Given the description of an element on the screen output the (x, y) to click on. 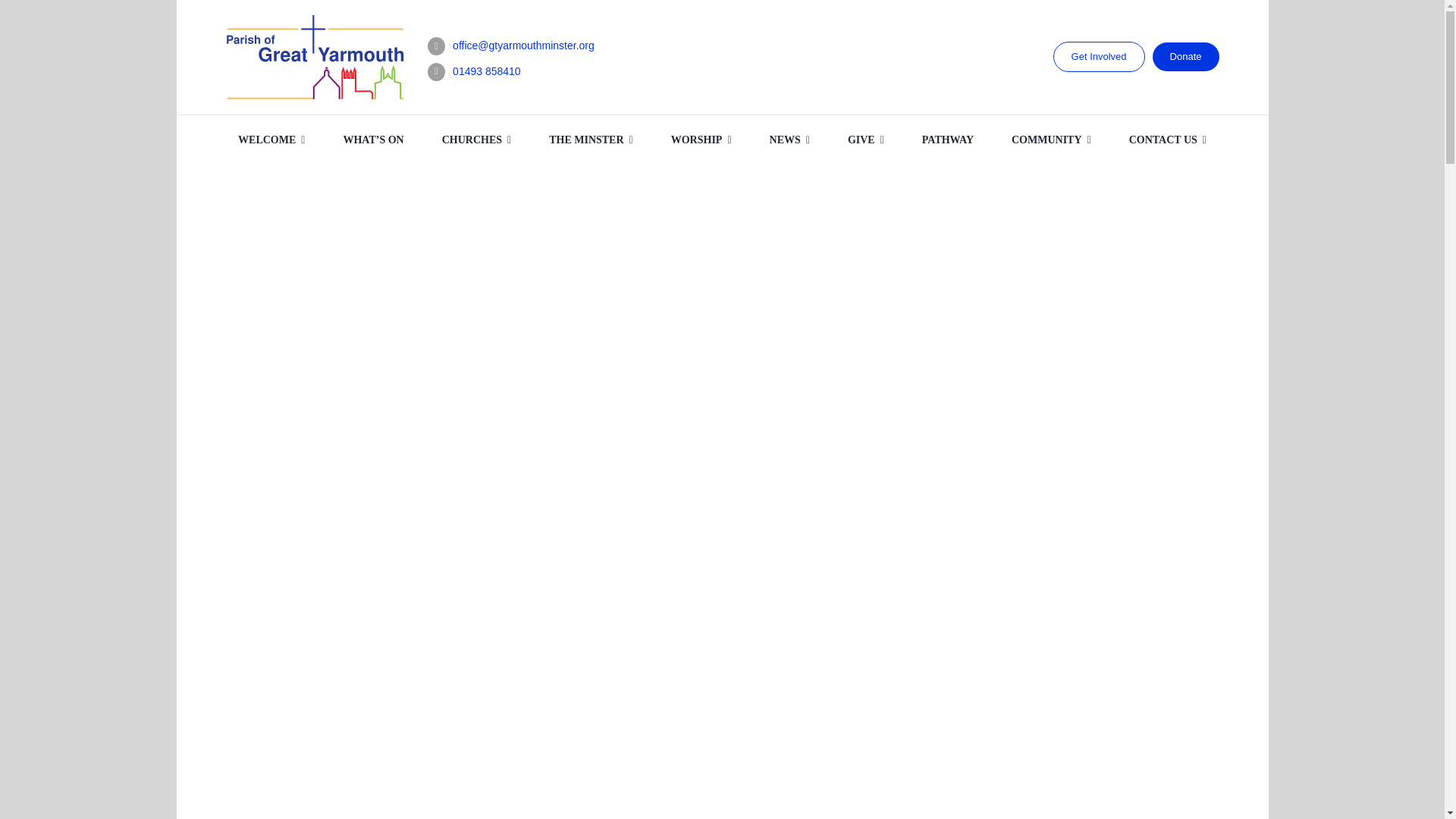
Get Involved (1098, 56)
Donate (1186, 56)
01493 858410 (486, 70)
